Given the description of an element on the screen output the (x, y) to click on. 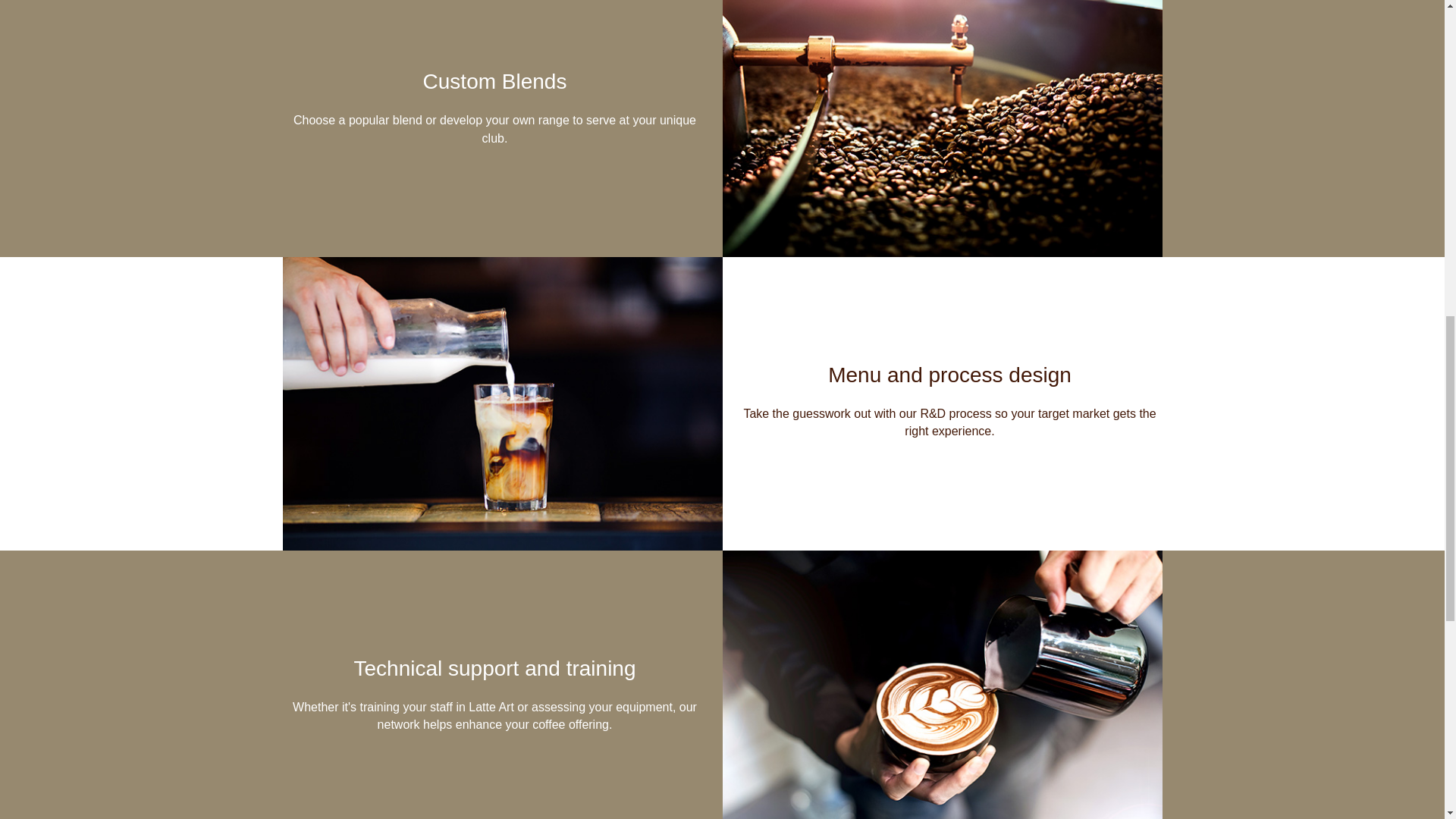
Custom Blends (941, 128)
Menu and process design (502, 403)
Technical support (941, 684)
